Given the description of an element on the screen output the (x, y) to click on. 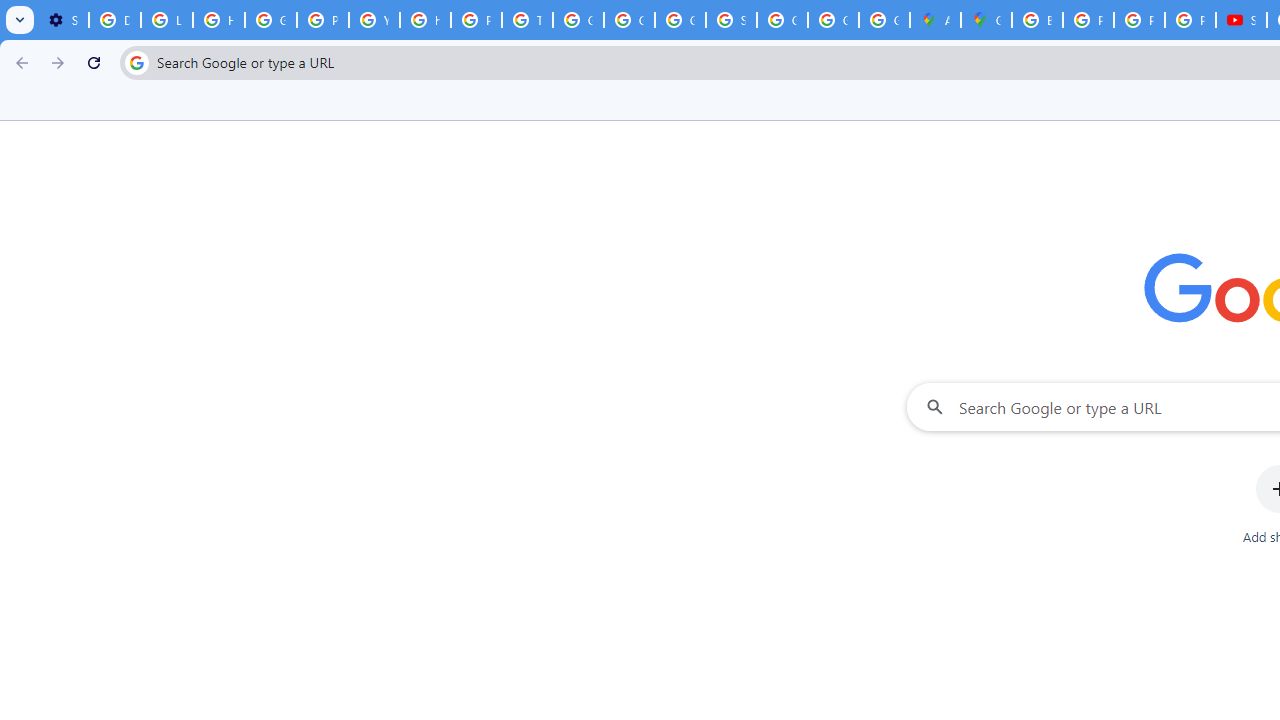
Privacy Help Center - Policies Help (323, 20)
Blogger Policies and Guidelines - Transparency Center (1037, 20)
YouTube (374, 20)
Subscriptions - YouTube (1241, 20)
Privacy Help Center - Policies Help (1087, 20)
Sign in - Google Accounts (731, 20)
Delete photos & videos - Computer - Google Photos Help (114, 20)
